Given the description of an element on the screen output the (x, y) to click on. 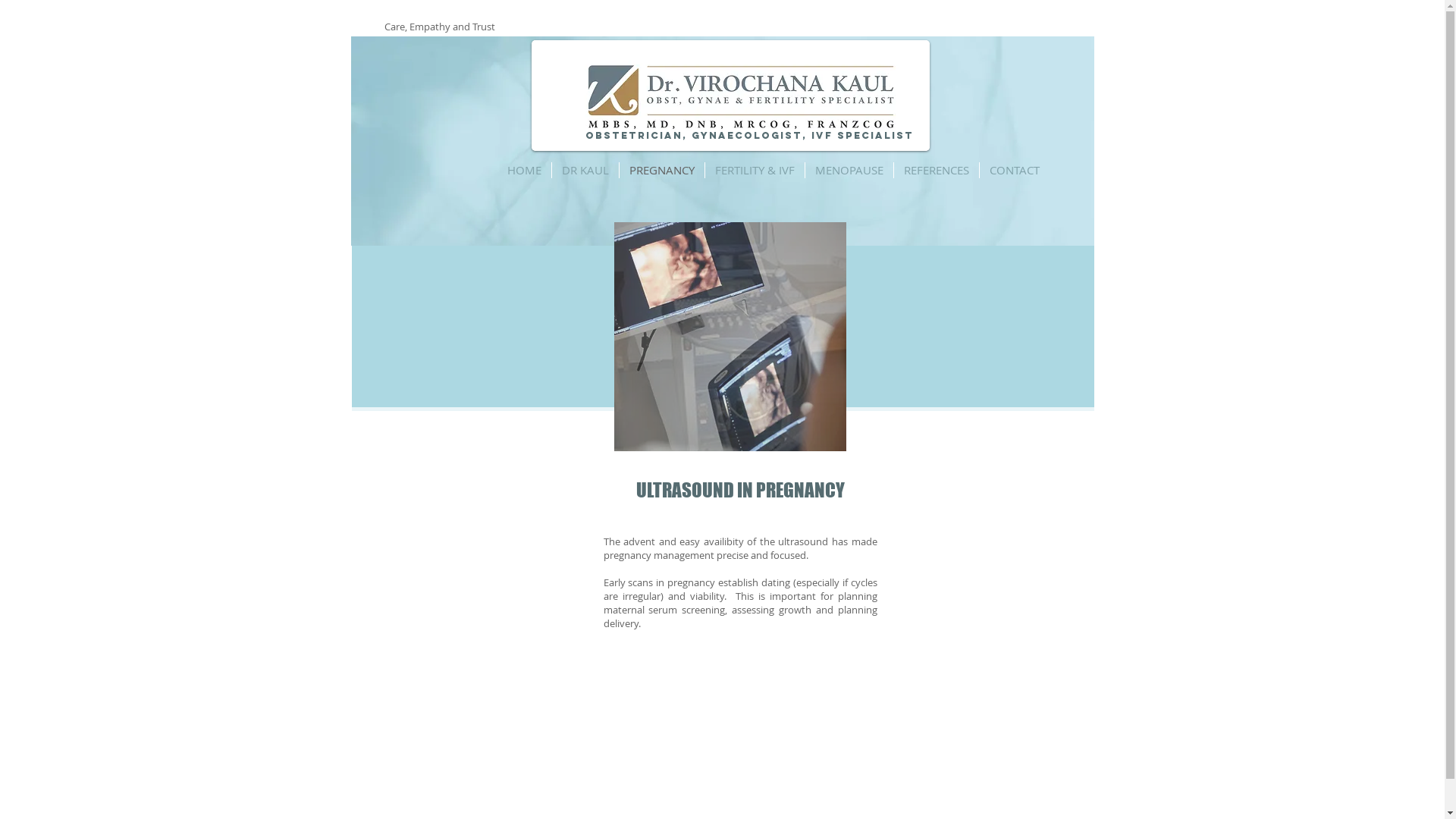
CONTACT Element type: text (1014, 170)
DR KAUL Element type: text (585, 170)
MENOPAUSE Element type: text (849, 170)
REFERENCES Element type: text (935, 170)
HOME Element type: text (524, 170)
FERTILITY & IVF Element type: text (754, 170)
PREGNANCY Element type: text (660, 170)
